Given the description of an element on the screen output the (x, y) to click on. 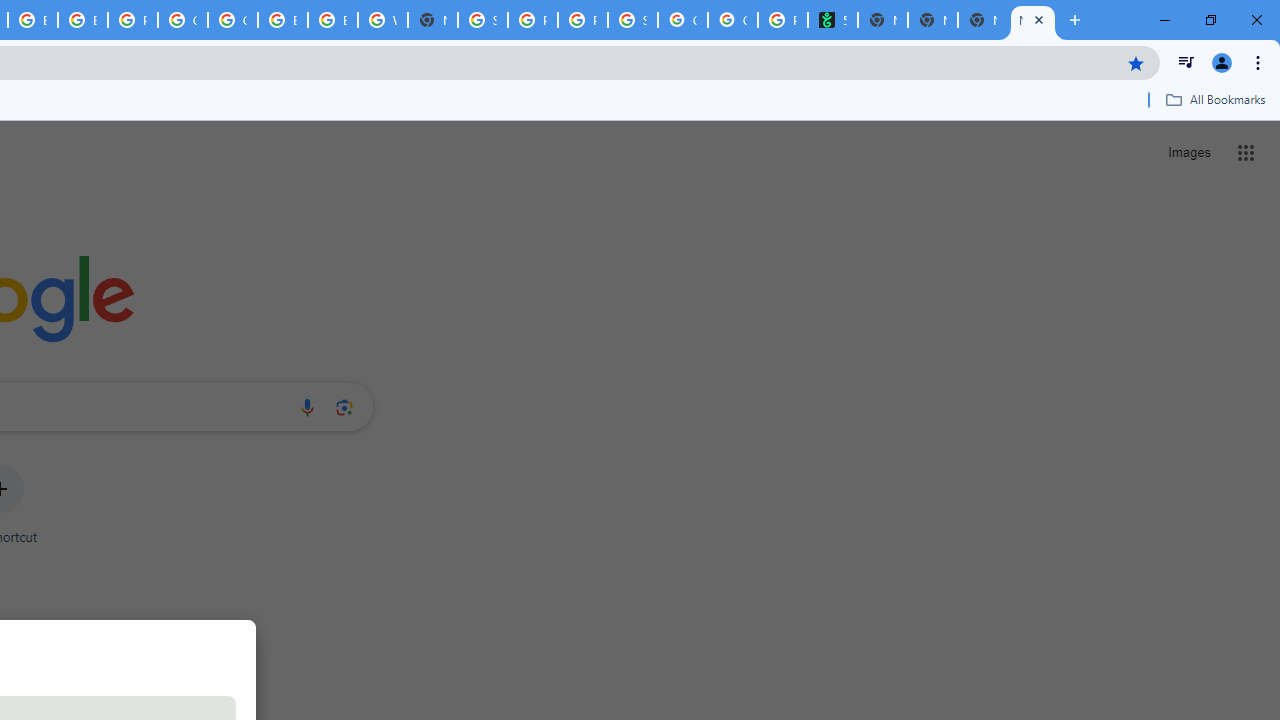
Google Cloud Platform (182, 20)
